Given the description of an element on the screen output the (x, y) to click on. 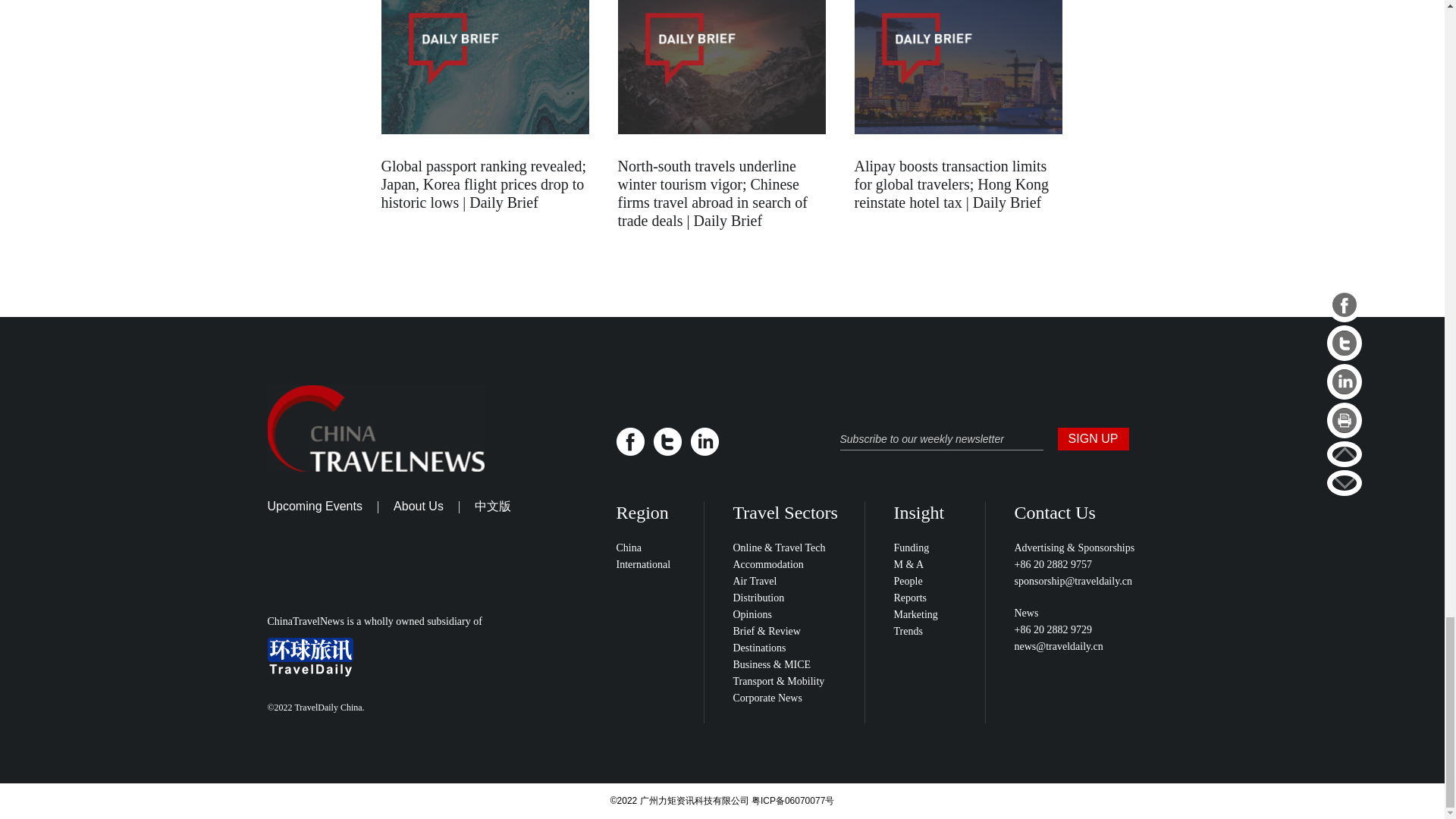
SIGN UP (1092, 438)
